Given the description of an element on the screen output the (x, y) to click on. 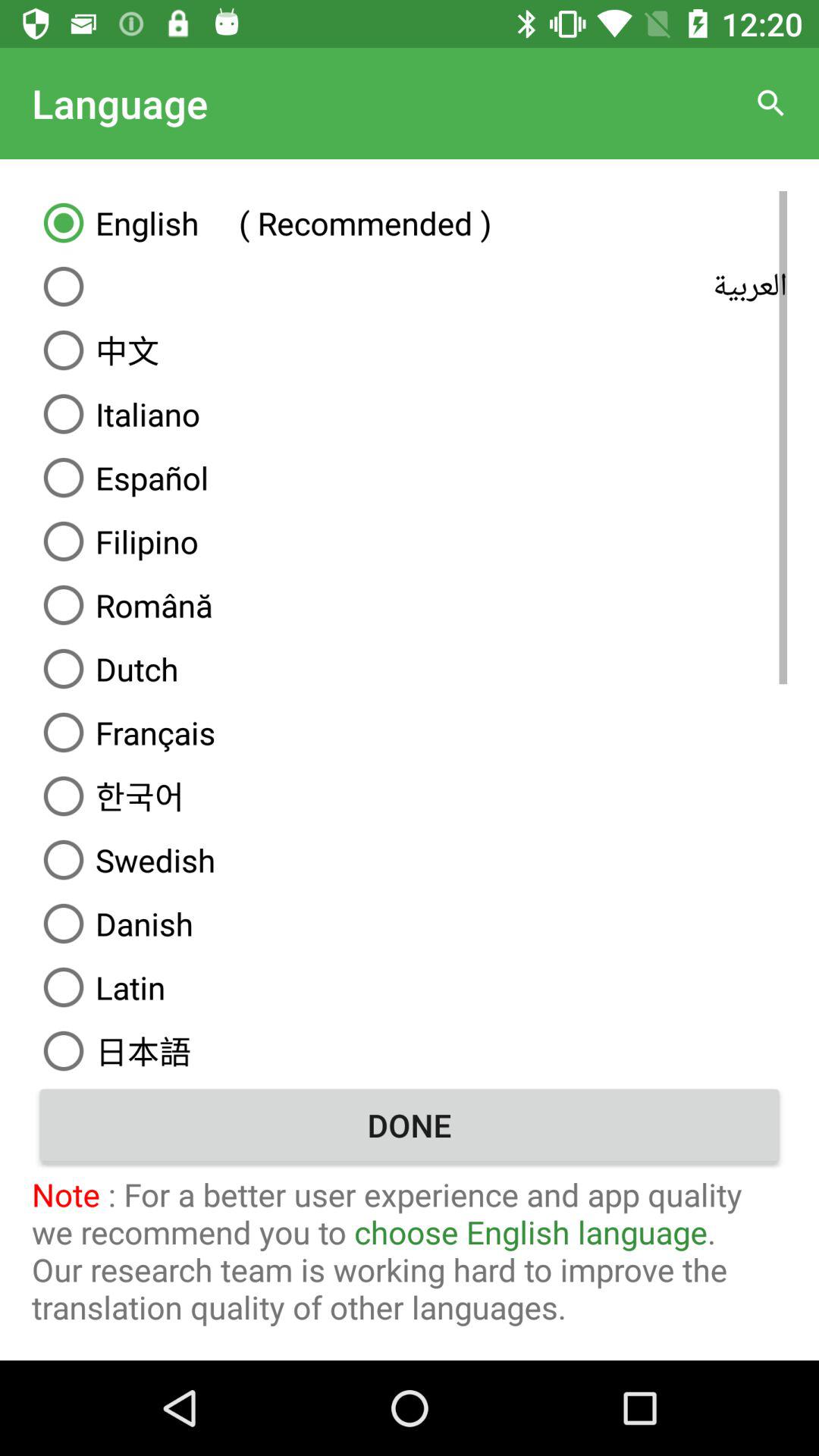
jump until swedish icon (409, 859)
